Given the description of an element on the screen output the (x, y) to click on. 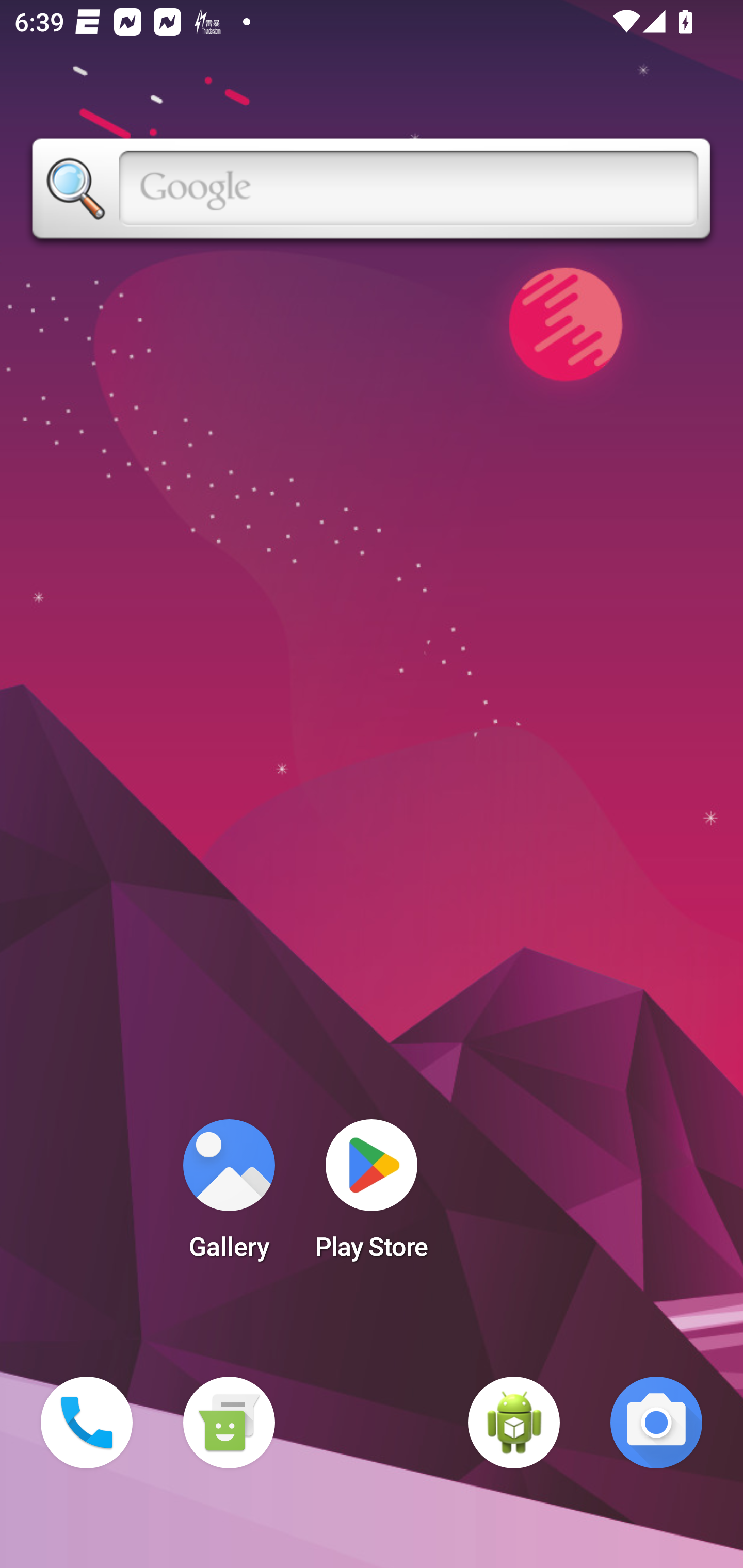
Gallery (228, 1195)
Play Store (371, 1195)
Phone (86, 1422)
Messaging (228, 1422)
WebView Browser Tester (513, 1422)
Camera (656, 1422)
